Given the description of an element on the screen output the (x, y) to click on. 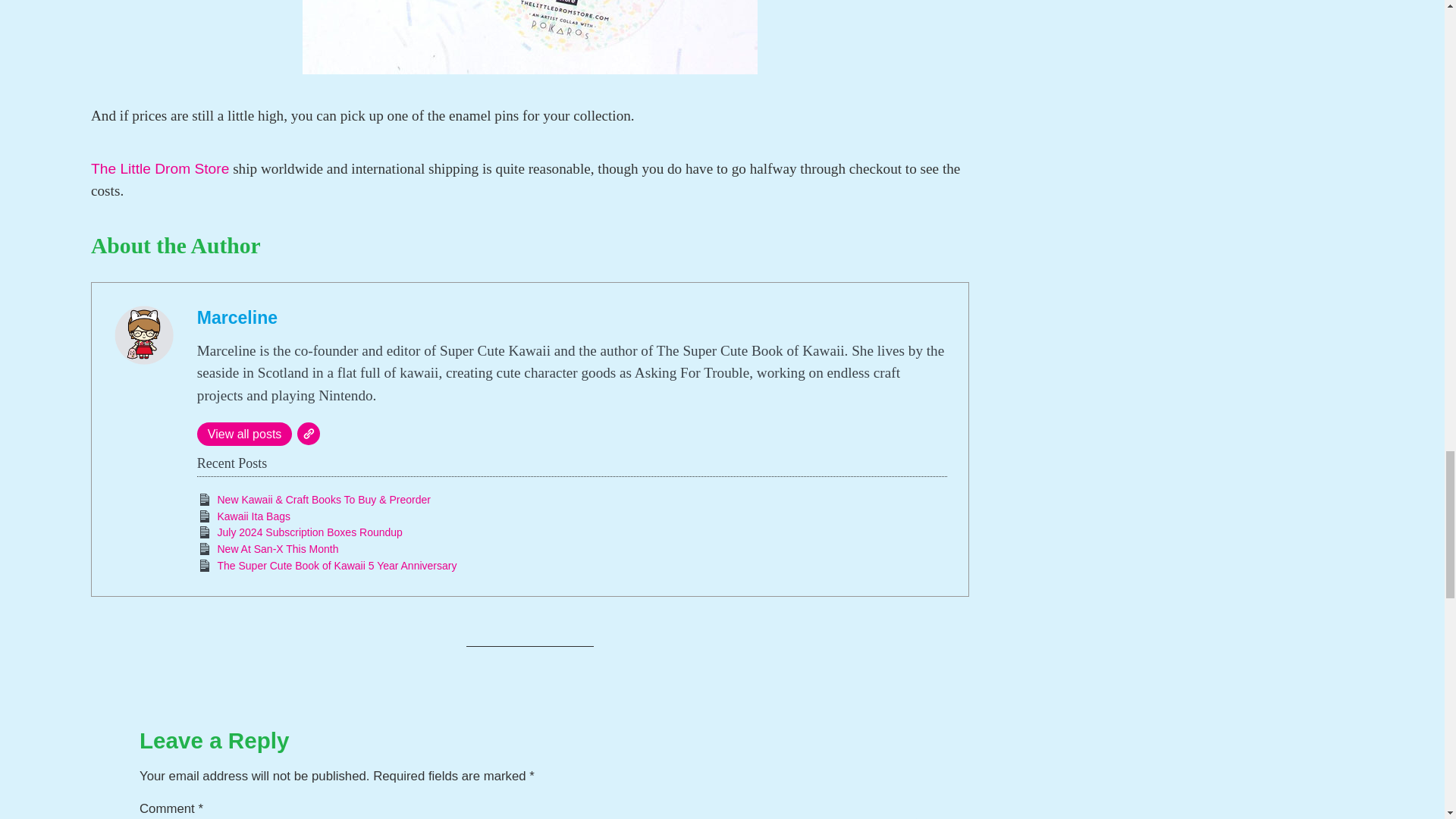
Kawaii Ita Bags (252, 516)
Marceline (237, 317)
July 2024 Subscription Boxes Roundup (308, 532)
New At San-X This Month (276, 548)
The Super Cute Book of Kawaii 5 Year Anniversary (336, 565)
View all posts (244, 433)
